Given the description of an element on the screen output the (x, y) to click on. 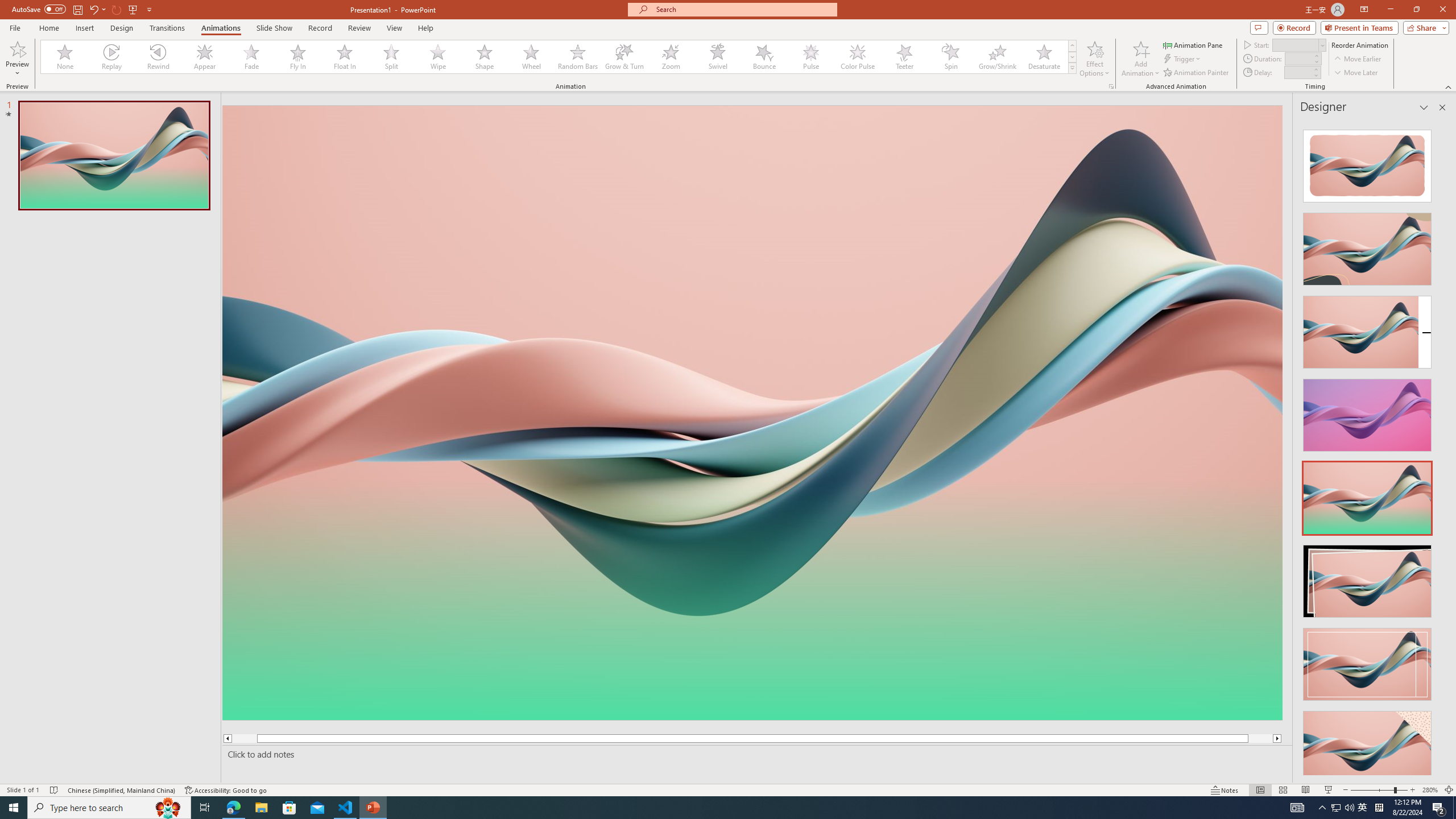
Desaturate (1043, 56)
Random Bars (577, 56)
Replay (111, 56)
Animation Painter (1196, 72)
